Given the description of an element on the screen output the (x, y) to click on. 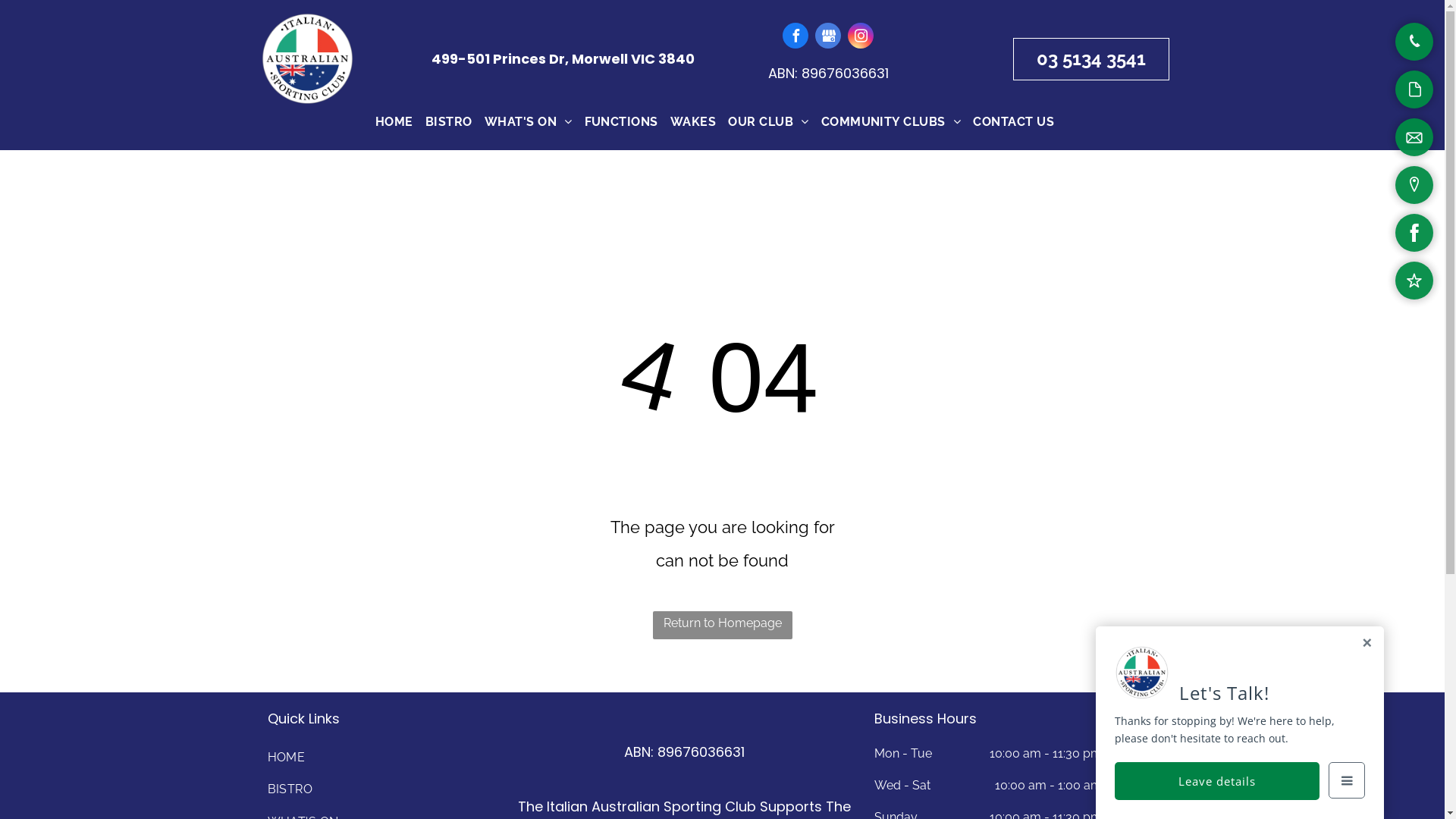
COMMUNITY CLUBS Element type: text (891, 122)
WAKES Element type: text (692, 122)
03 5134 3541 Element type: text (1091, 58)
BISTRO Element type: text (380, 789)
WHAT'S ON Element type: text (528, 122)
OUR CLUB Element type: text (767, 122)
Italian Australian Club Element type: hover (306, 58)
FUNCTIONS Element type: text (621, 122)
BISTRO Element type: text (448, 122)
HOME Element type: text (394, 122)
CONTACT US Element type: text (1013, 122)
Leave details Element type: text (1216, 781)
499-501 Princes Dr, Morwell VIC 3840 Element type: text (562, 58)
Return to Homepage Element type: text (721, 625)
HOME Element type: text (380, 757)
